Given the description of an element on the screen output the (x, y) to click on. 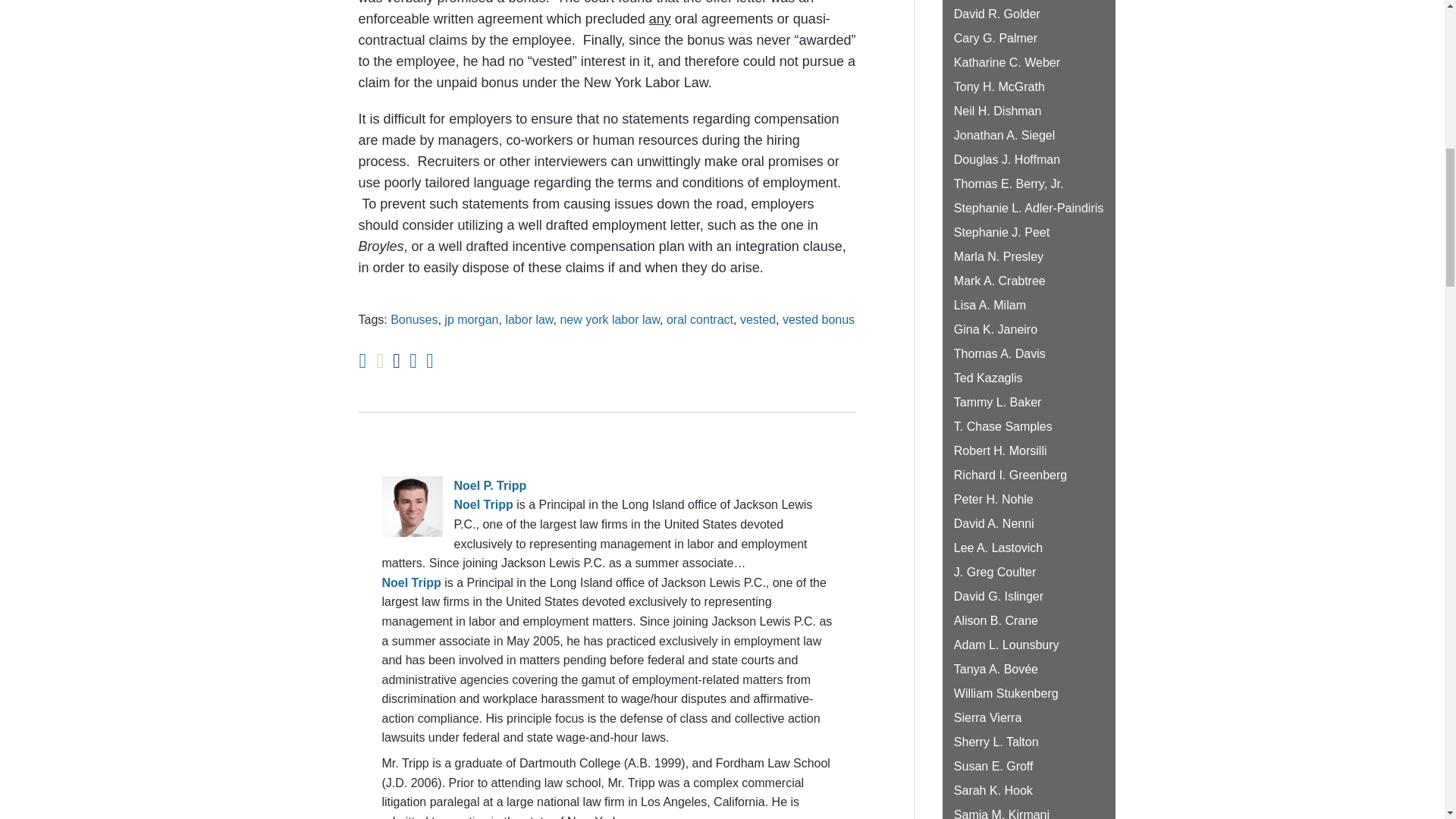
vested bonus (818, 318)
Noel Tripp (482, 504)
vested (757, 318)
new york labor law (609, 318)
Noel P. Tripp (606, 485)
jp morgan (470, 318)
Noel Tripp (411, 582)
labor law (529, 318)
oral contract (699, 318)
Bonuses (414, 318)
